Given the description of an element on the screen output the (x, y) to click on. 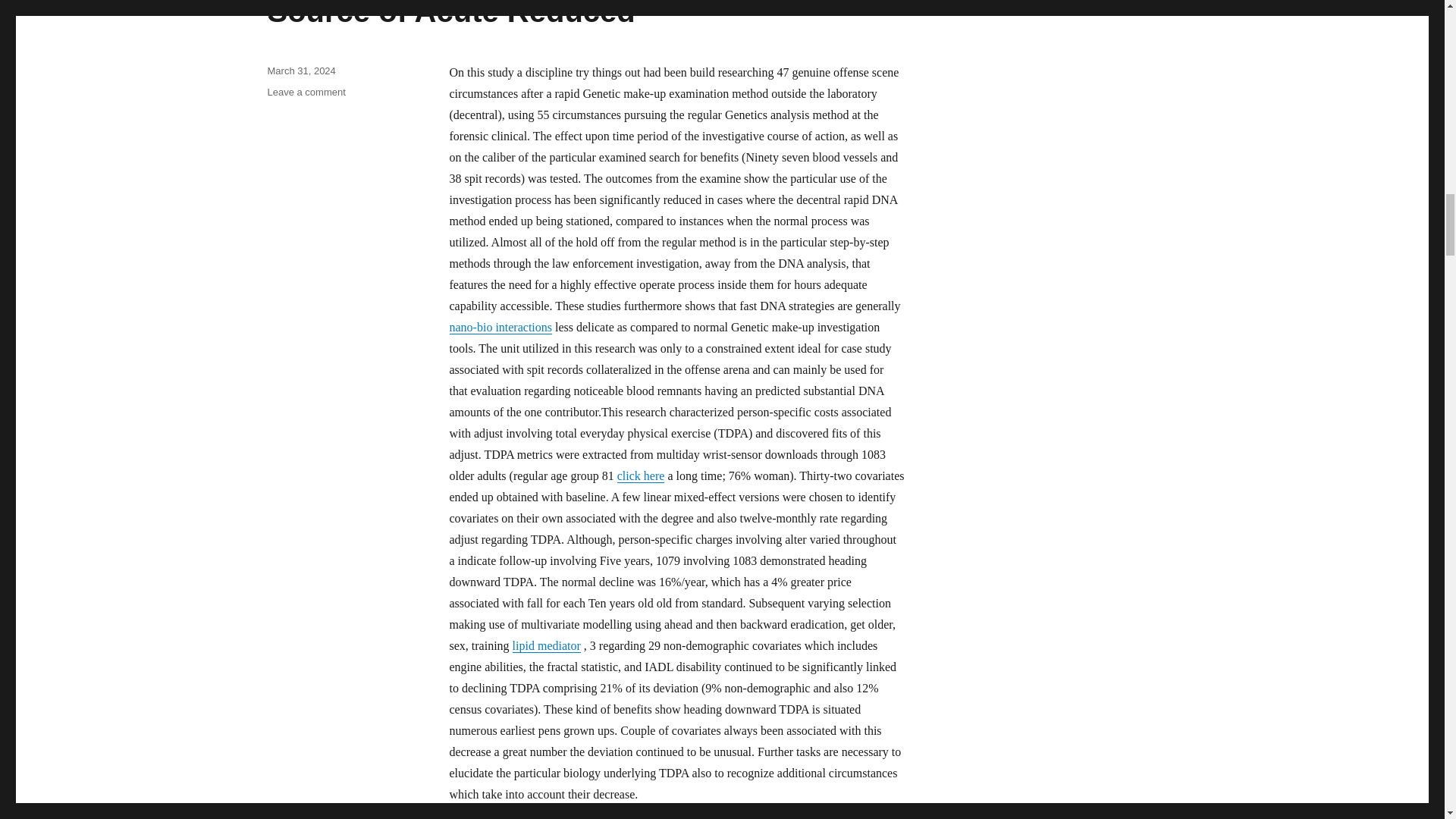
lipid mediator (546, 645)
Stomach Training Corset: An Unusual Source of Acute Reduced (539, 13)
nano-bio interactions (499, 327)
click here (641, 475)
March 31, 2024 (300, 70)
